Given the description of an element on the screen output the (x, y) to click on. 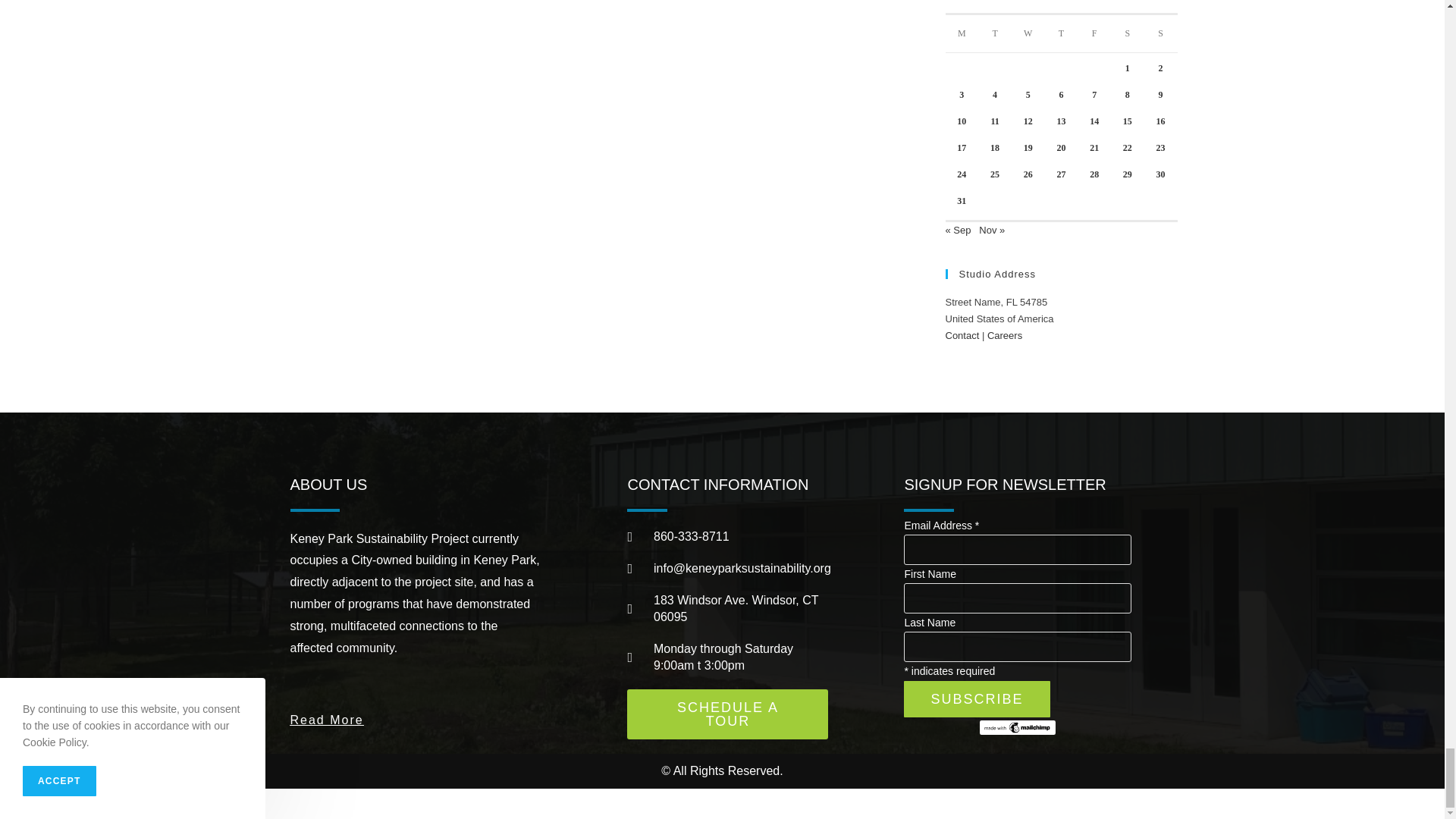
Mailchimp - email marketing made easy and fun (1017, 726)
Subscribe (976, 698)
